Given the description of an element on the screen output the (x, y) to click on. 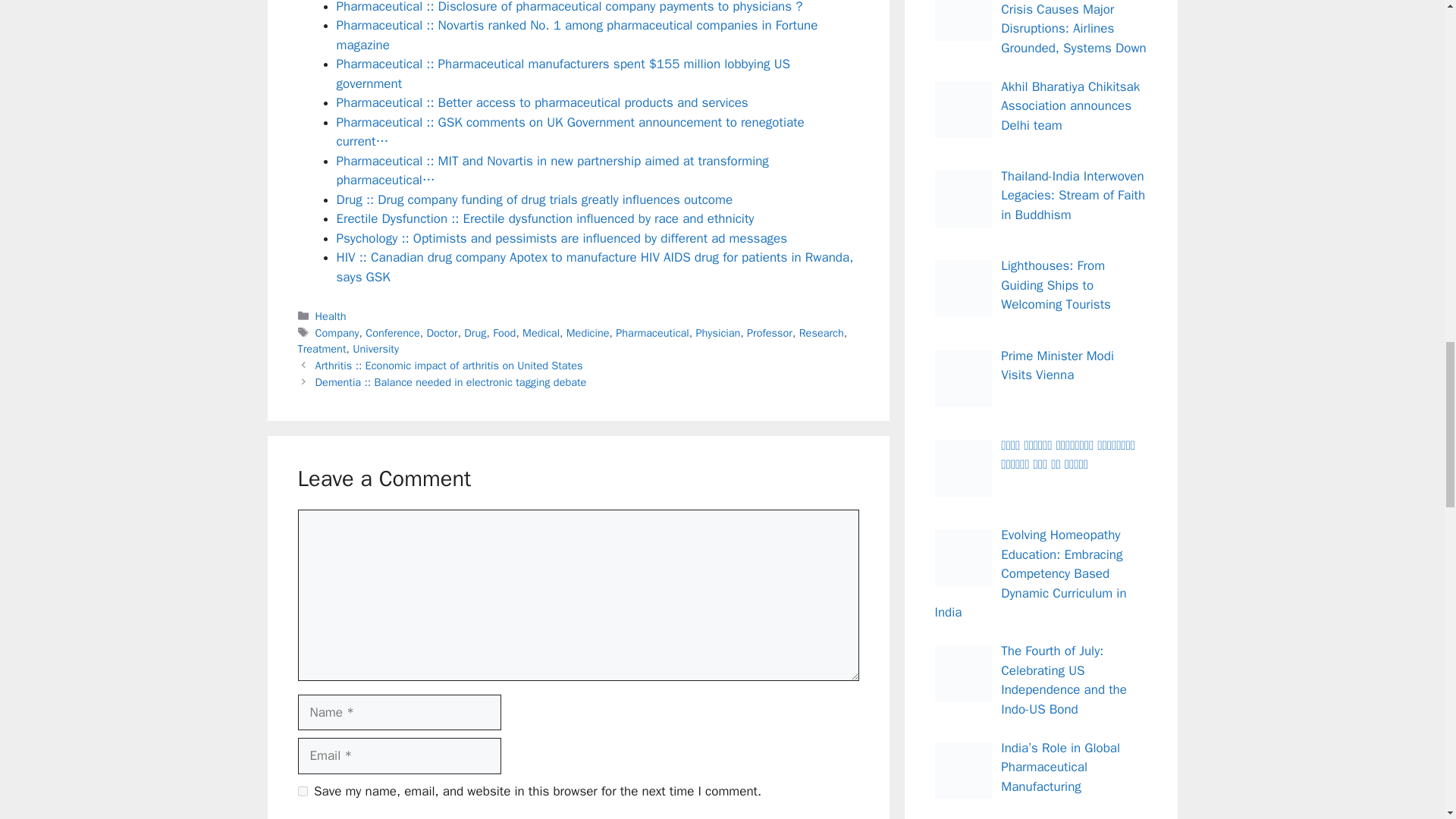
Food (504, 332)
Doctor (441, 332)
Pharmaceutical (651, 332)
Conference (392, 332)
yes (302, 791)
Drug (475, 332)
Dementia :: Balance needed in electronic tagging debate (450, 382)
